Given the description of an element on the screen output the (x, y) to click on. 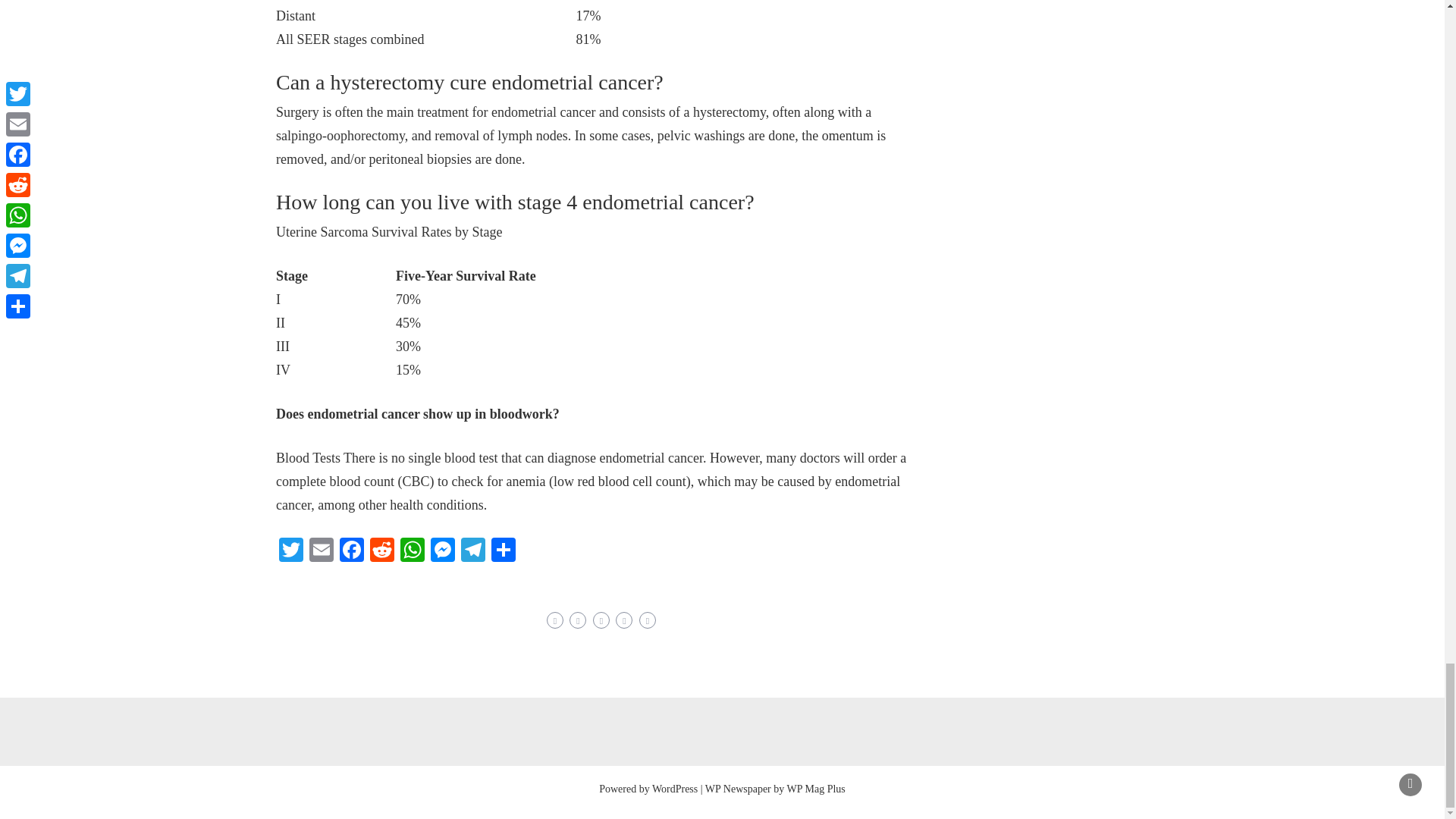
Twitter (290, 551)
Reddit (381, 551)
Reddit (381, 551)
Messenger (443, 551)
Telegram (472, 551)
WhatsApp (412, 551)
Telegram (472, 551)
Share (502, 551)
Facebook (351, 551)
WhatsApp (412, 551)
Messenger (443, 551)
Facebook (351, 551)
Twitter (290, 551)
Email (320, 551)
Email (320, 551)
